Given the description of an element on the screen output the (x, y) to click on. 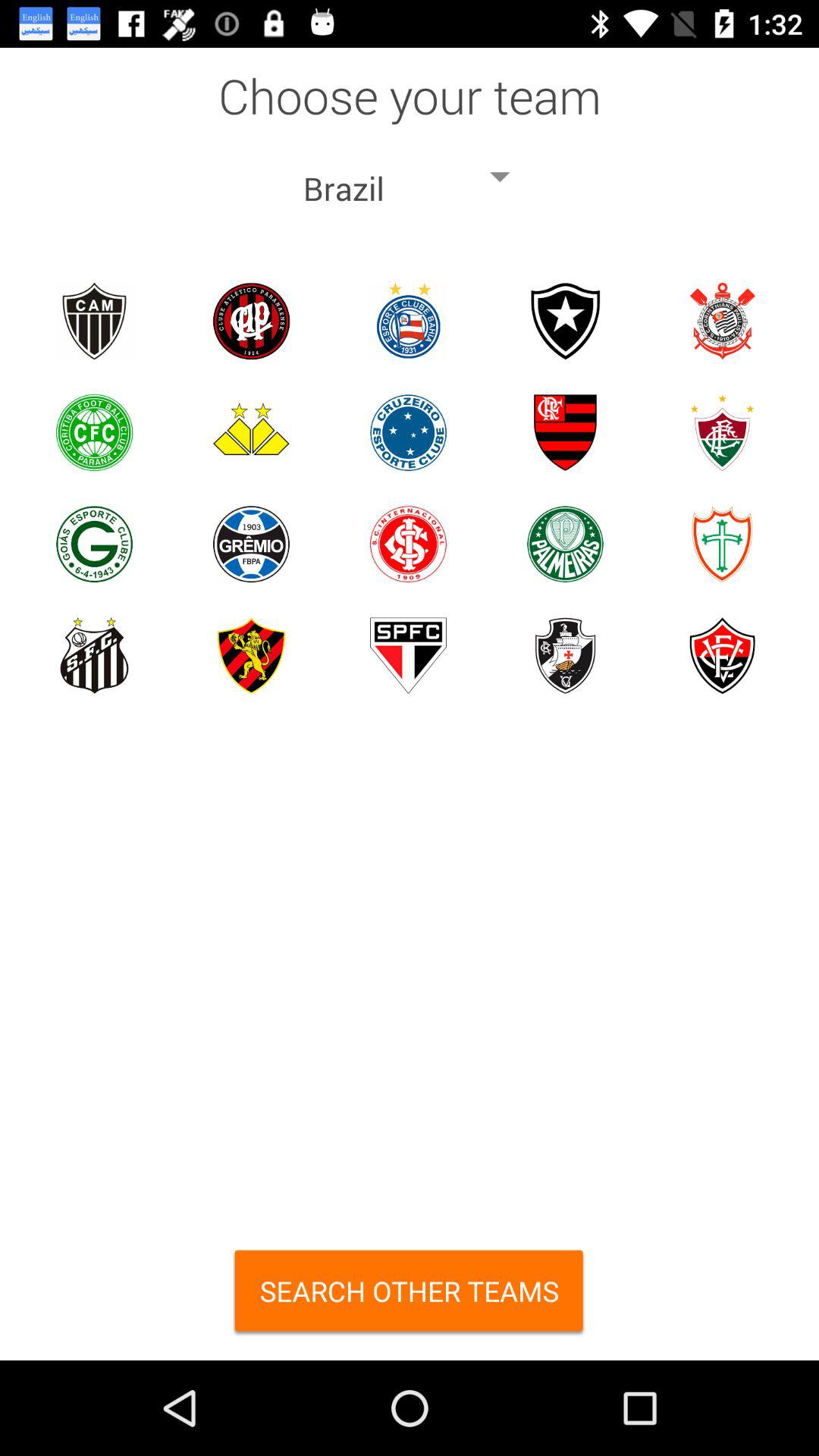
choose your team in brazil (408, 321)
